Given the description of an element on the screen output the (x, y) to click on. 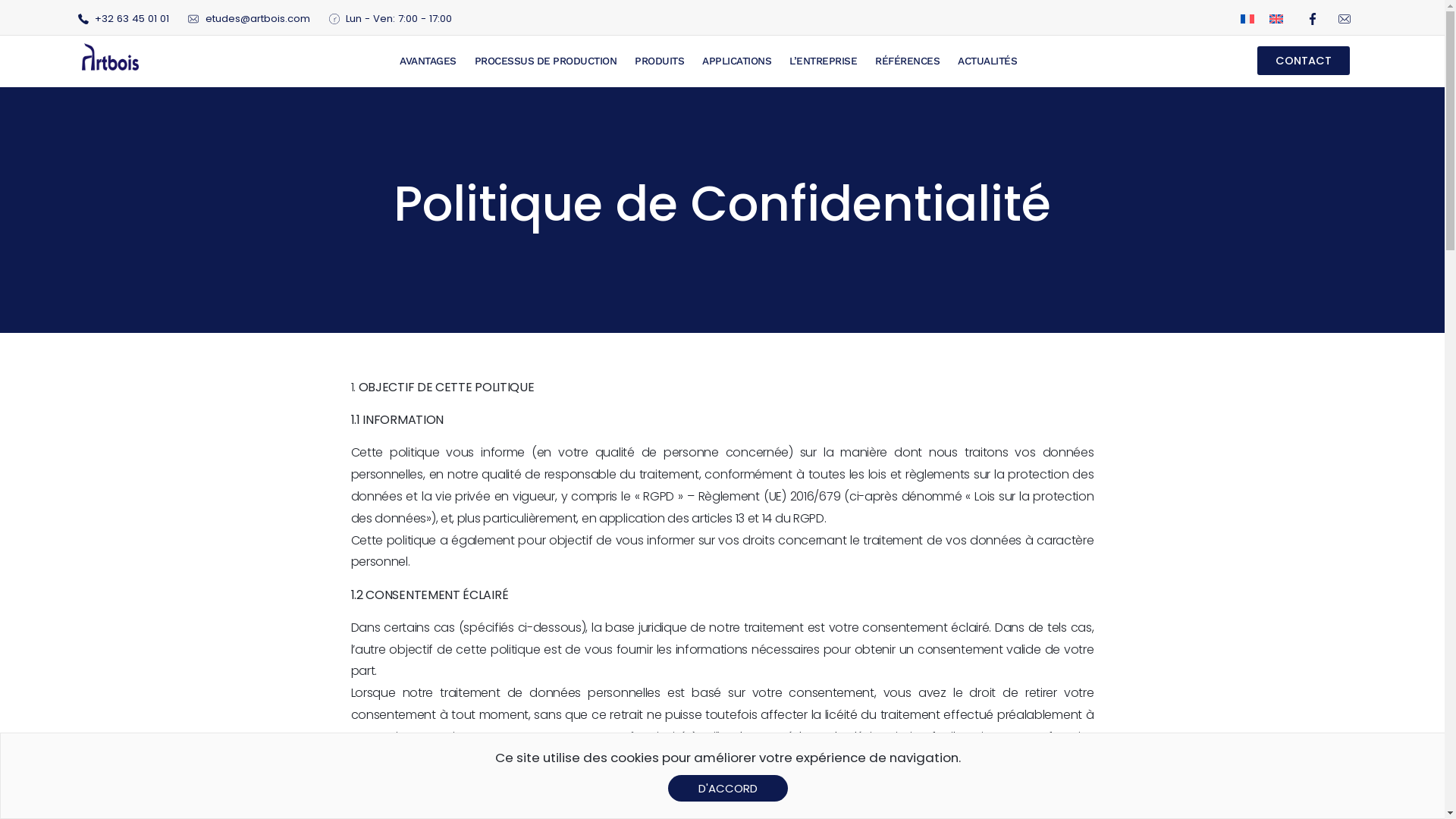
etudes@artbois.com Element type: text (249, 18)
+32 63 45 01 01 Element type: text (123, 18)
D'ACCORD Element type: text (727, 788)
PRODUITS Element type: text (659, 60)
PROCESSUS DE PRODUCTION Element type: text (545, 60)
APPLICATIONS Element type: text (736, 60)
CONTACT Element type: text (1303, 60)
AVANTAGES Element type: text (427, 60)
